Given the description of an element on the screen output the (x, y) to click on. 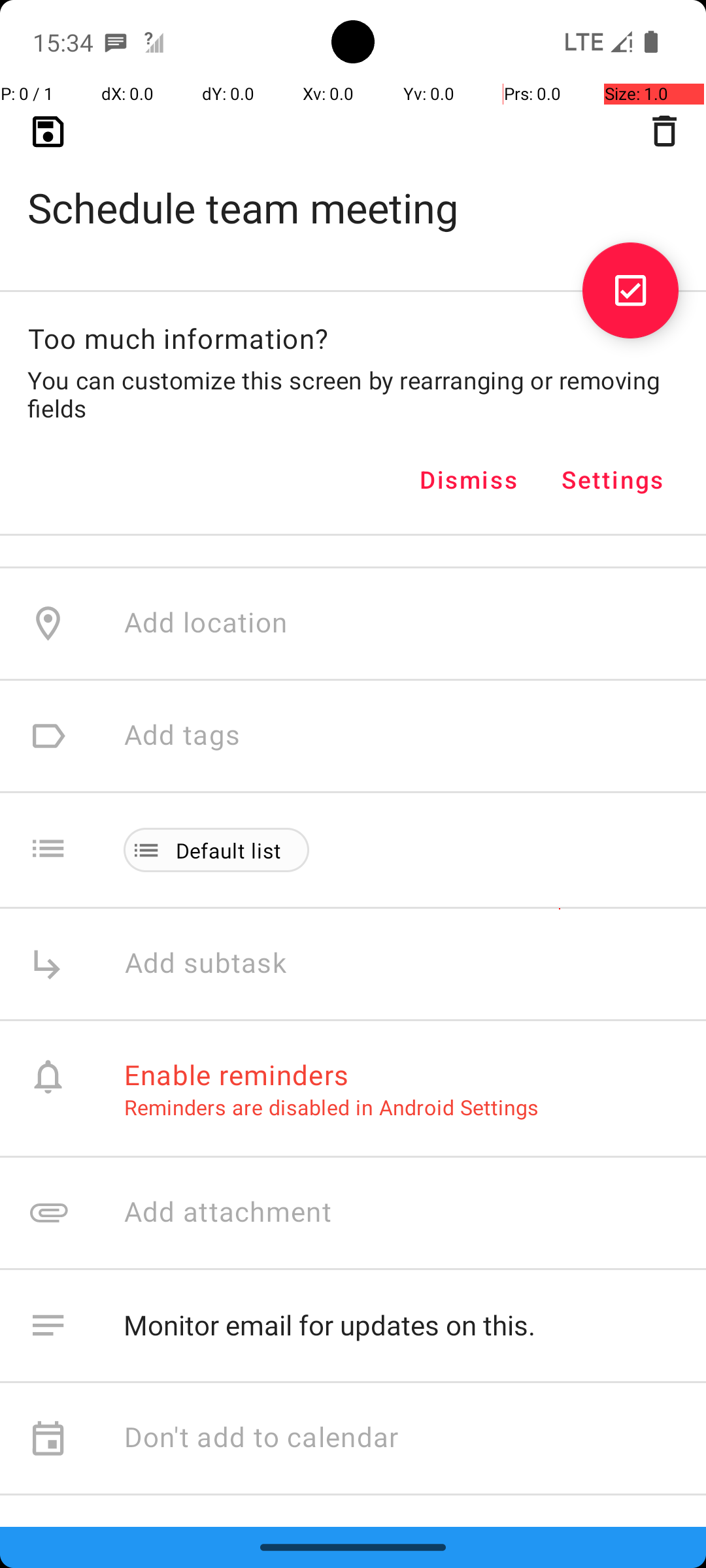
Schedule team meeting Element type: android.widget.EditText (353, 186)
Saturday, October 28 Element type: android.widget.TextView (258, 284)
Monitor email for updates on this. Element type: android.widget.EditText (400, 1325)
Don't add to calendar Element type: android.widget.TextView (261, 1437)
